Given the description of an element on the screen output the (x, y) to click on. 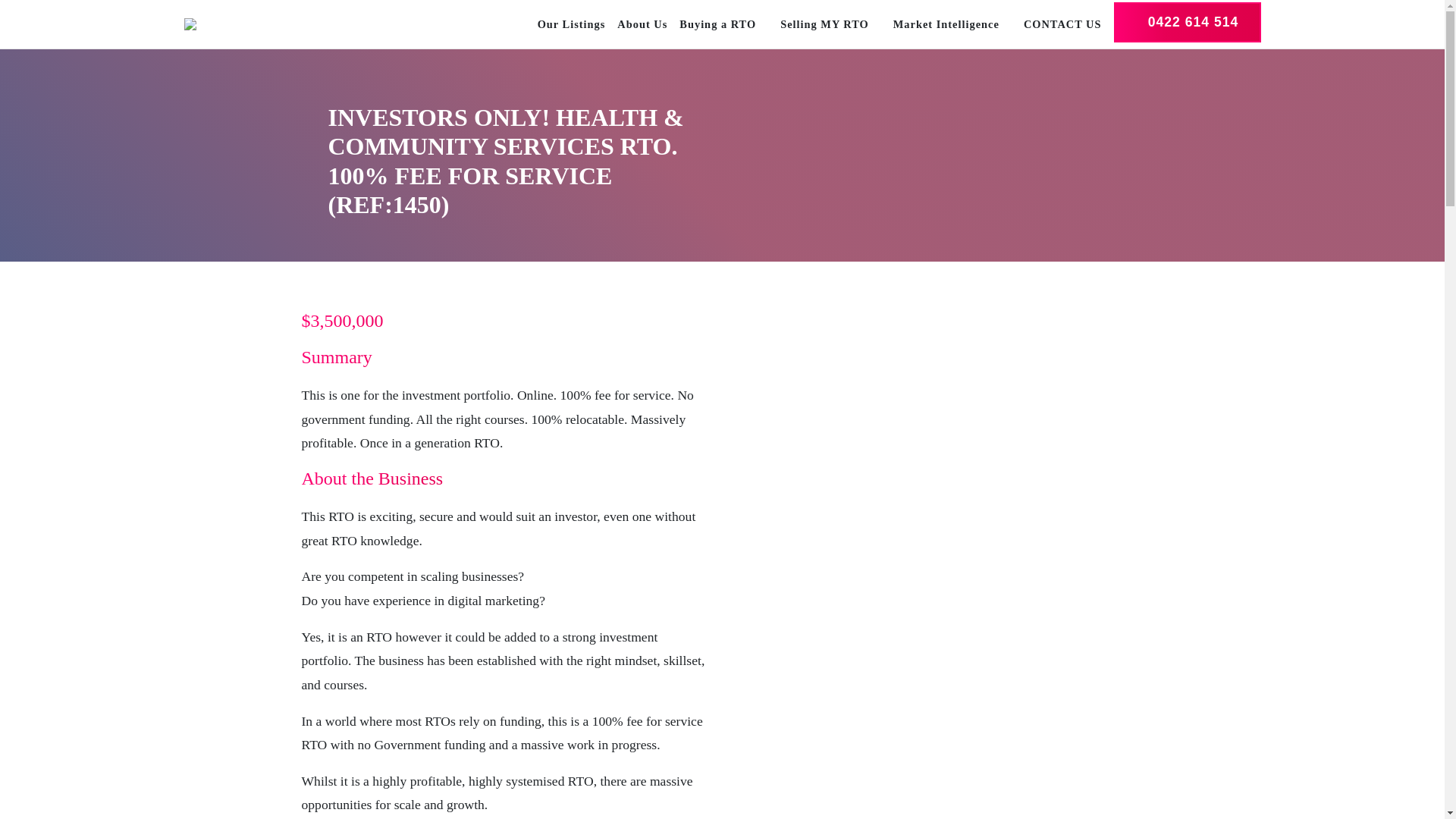
About Us (635, 24)
Our Listings (565, 24)
CONTACT US (1056, 24)
Selling MY RTO (824, 24)
0422 614 514 (1186, 22)
Market Intelligence (945, 24)
Buying a RTO (717, 24)
